Given the description of an element on the screen output the (x, y) to click on. 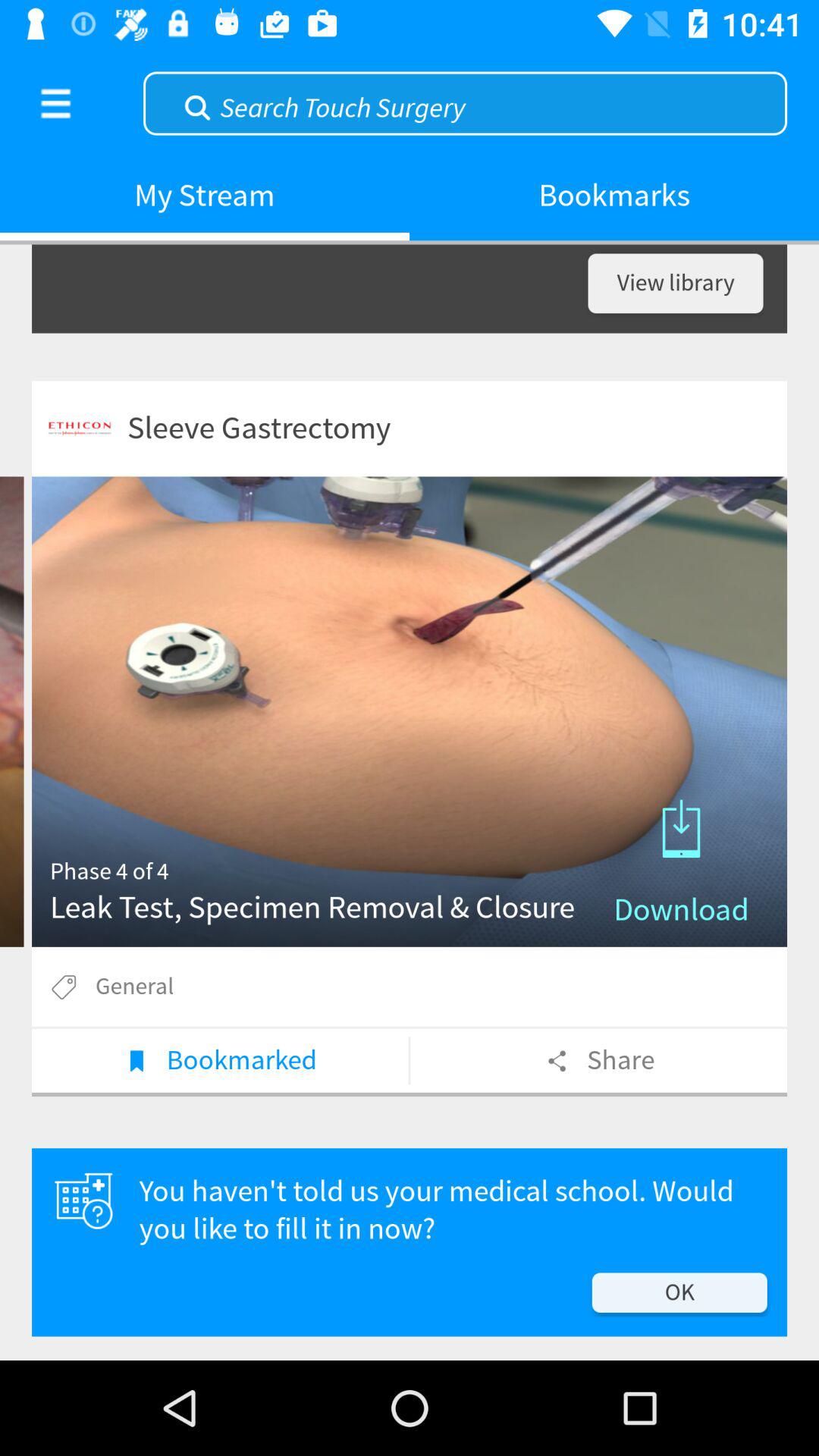
jump until the view library item (675, 283)
